Given the description of an element on the screen output the (x, y) to click on. 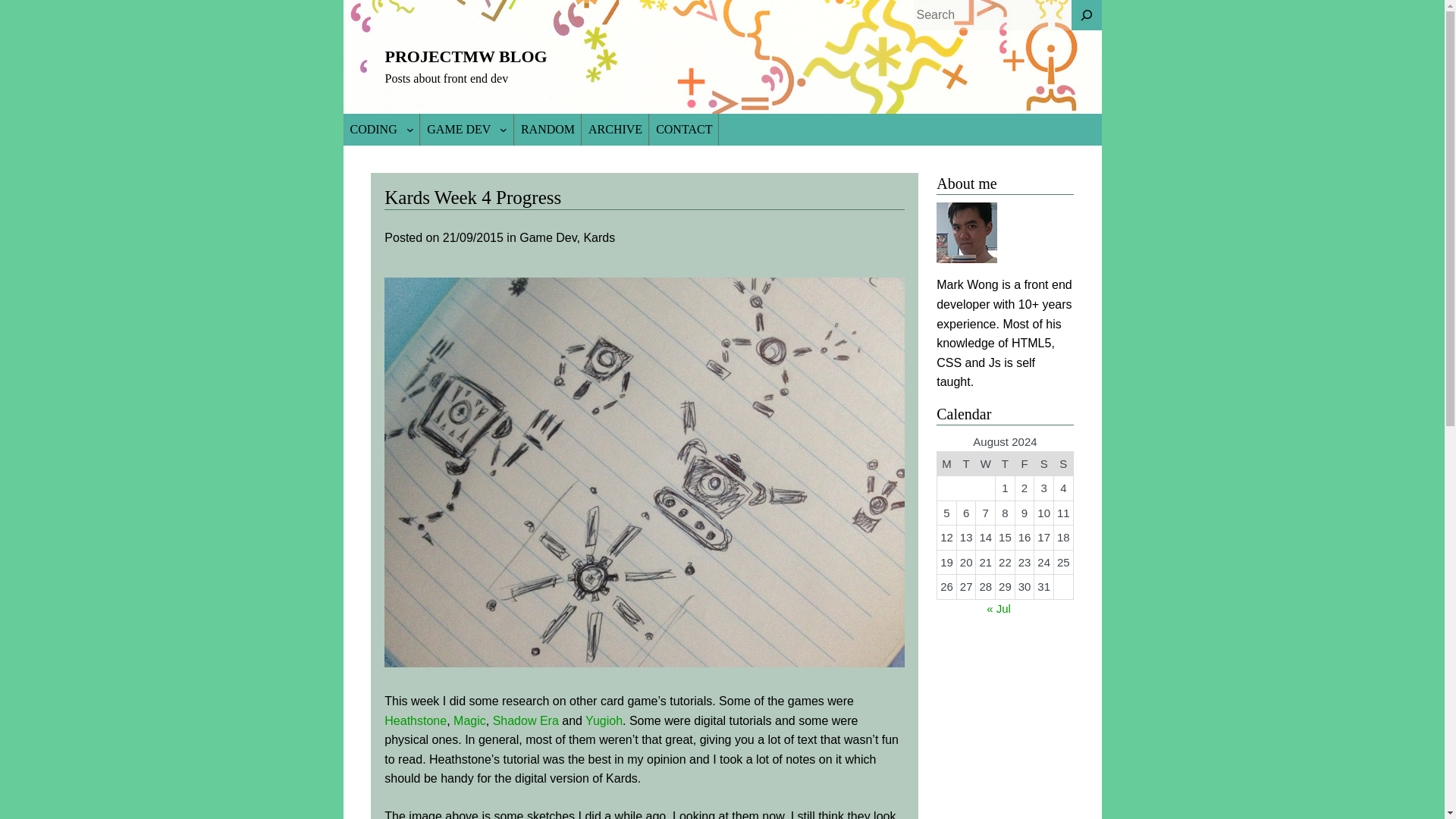
Heathstone (415, 720)
Magic (469, 720)
Game Dev (547, 237)
Kards (598, 237)
CODING (373, 129)
Yugioh (604, 720)
Shadow Era (526, 720)
PROJECTMW BLOG (466, 56)
GAME DEV (458, 129)
ARCHIVE (614, 129)
